Given the description of an element on the screen output the (x, y) to click on. 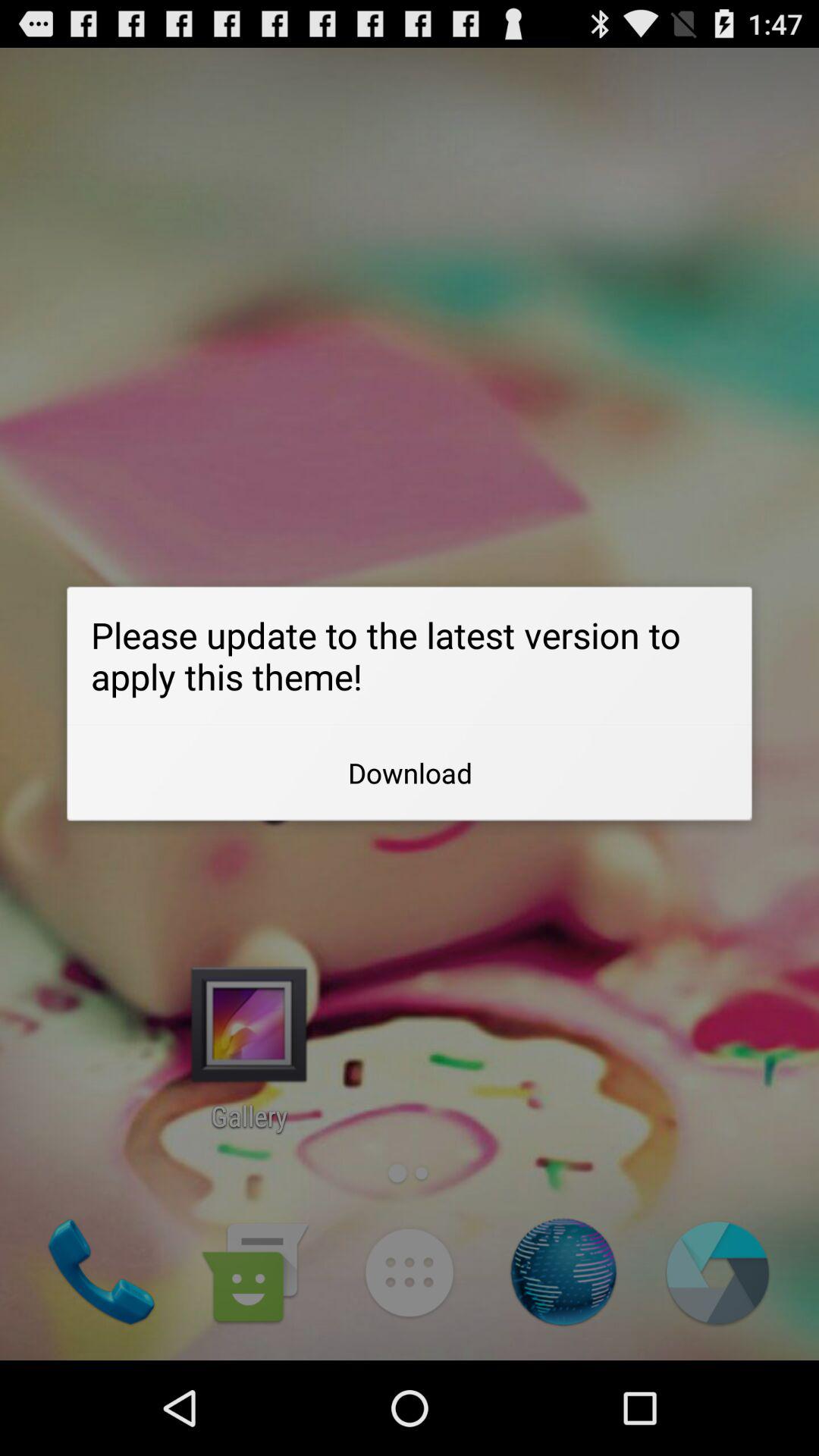
press the download (409, 772)
